Given the description of an element on the screen output the (x, y) to click on. 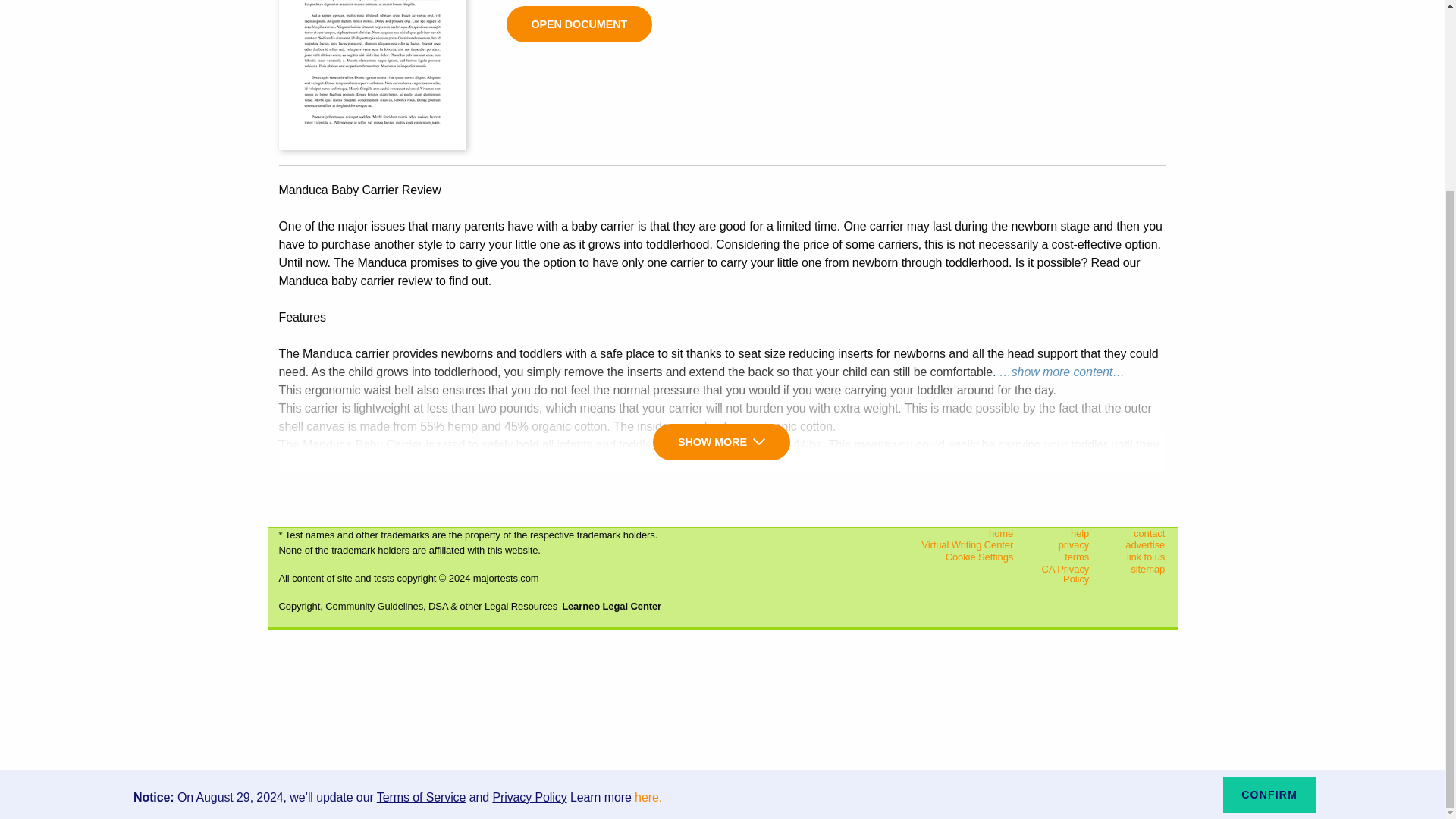
advertise (1139, 544)
sitemap (1139, 568)
Terms of Service (421, 558)
Virtual Writing Center (949, 544)
here. (648, 558)
link to us (1139, 557)
Cookie Settings (949, 557)
contact (1139, 533)
CONFIRM (1269, 555)
home (949, 533)
